Given the description of an element on the screen output the (x, y) to click on. 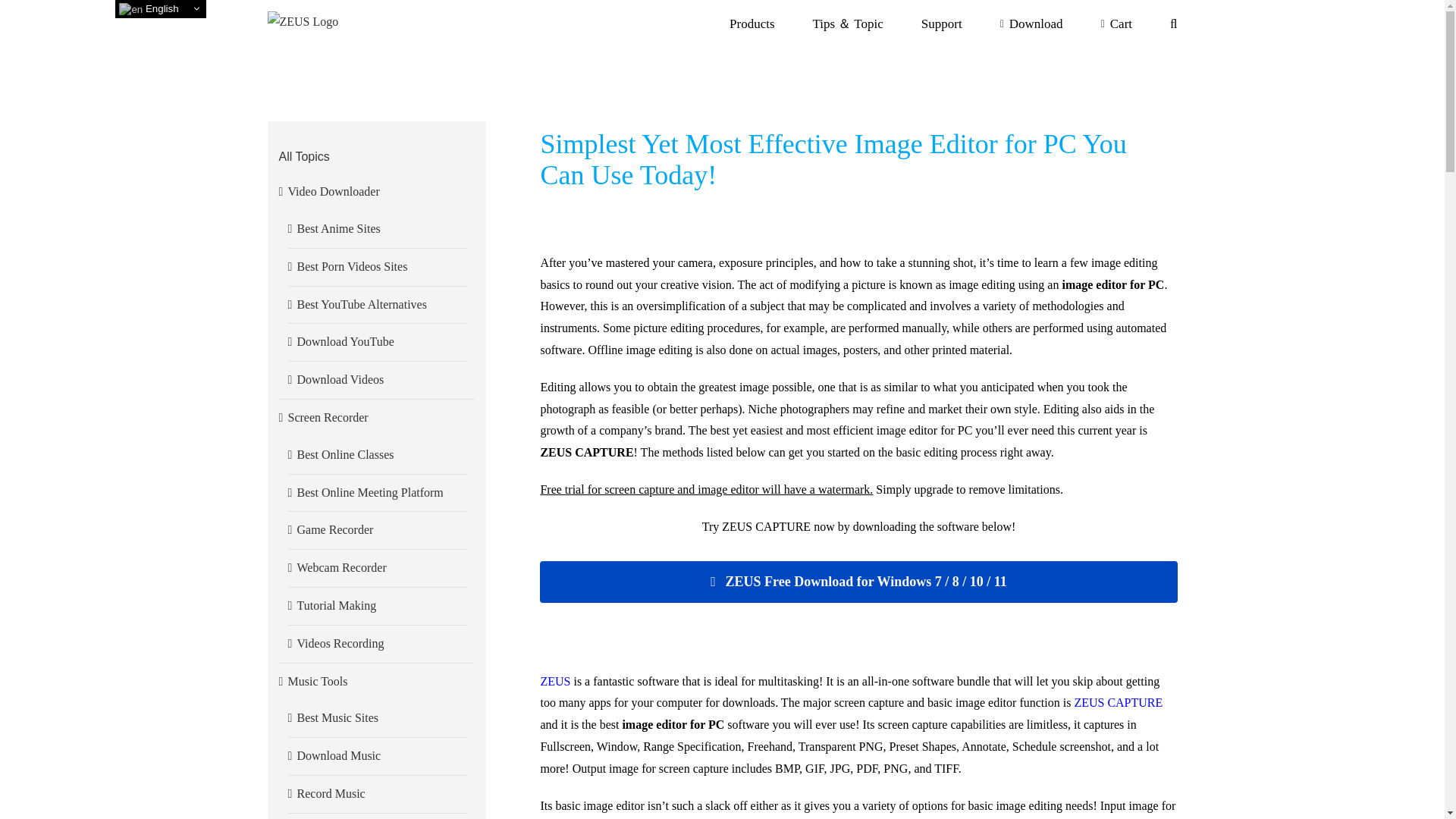
Search (1173, 22)
Products (751, 22)
